Given the description of an element on the screen output the (x, y) to click on. 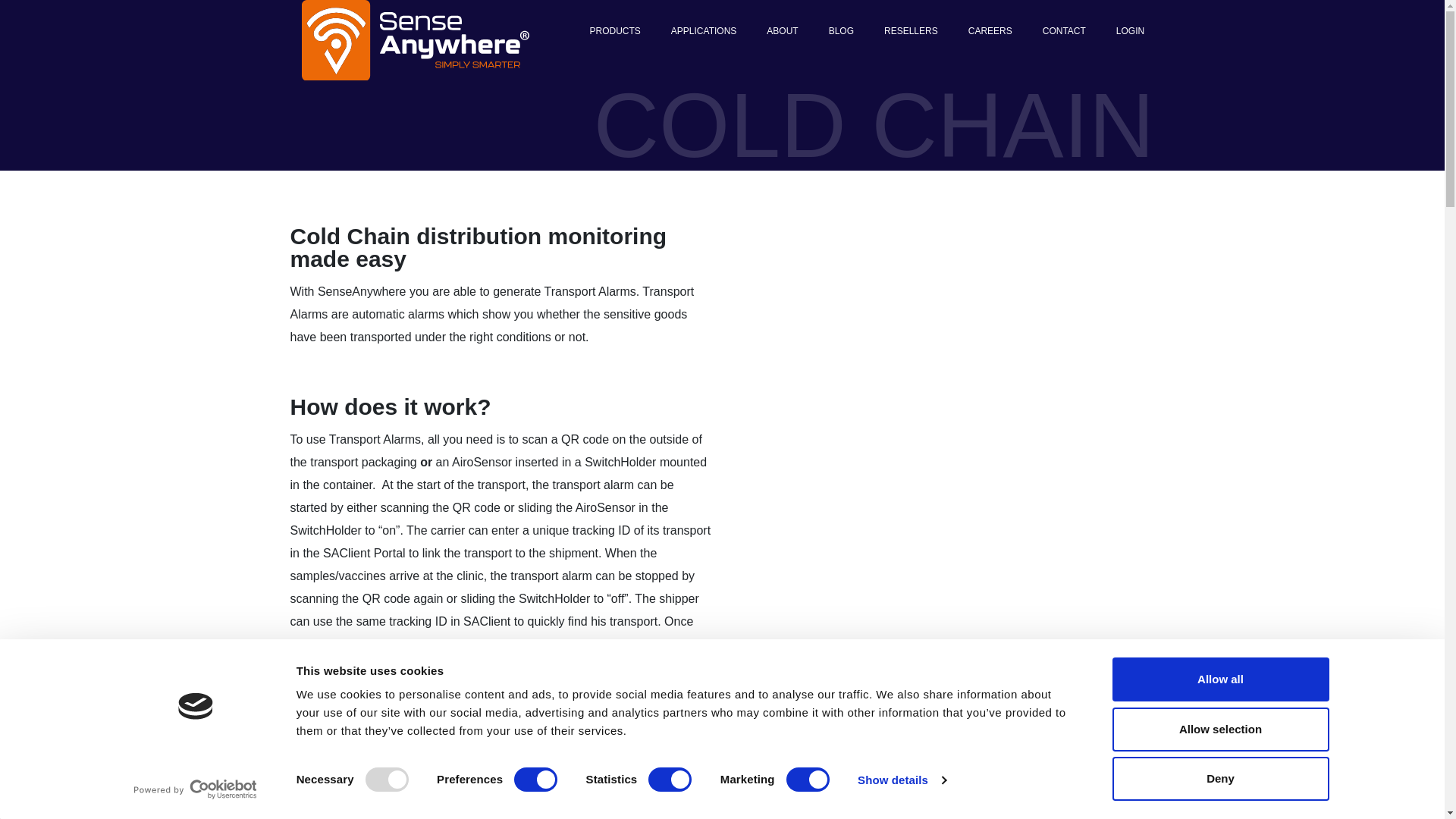
Allow all (1219, 679)
Deny (1219, 778)
Allow selection (1219, 728)
Show details (900, 780)
